Given the description of an element on the screen output the (x, y) to click on. 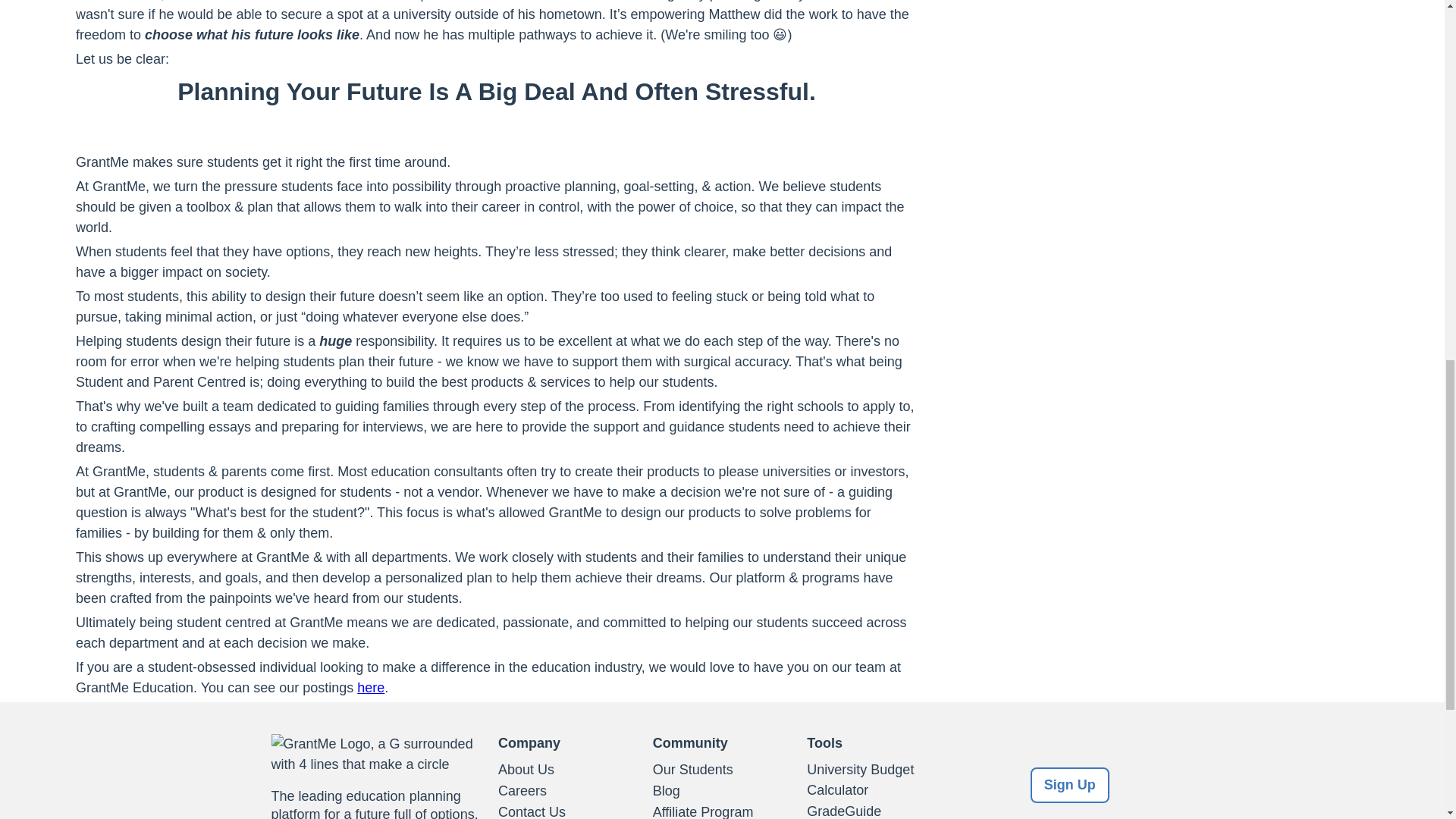
Blog (722, 791)
Careers (567, 791)
Our Students (722, 770)
Affiliate Program (722, 810)
Matthew (135, 0)
Contact Us (567, 810)
About Us (567, 770)
GradeGuide (876, 810)
here (370, 687)
Sign Up (1069, 785)
